Given the description of an element on the screen output the (x, y) to click on. 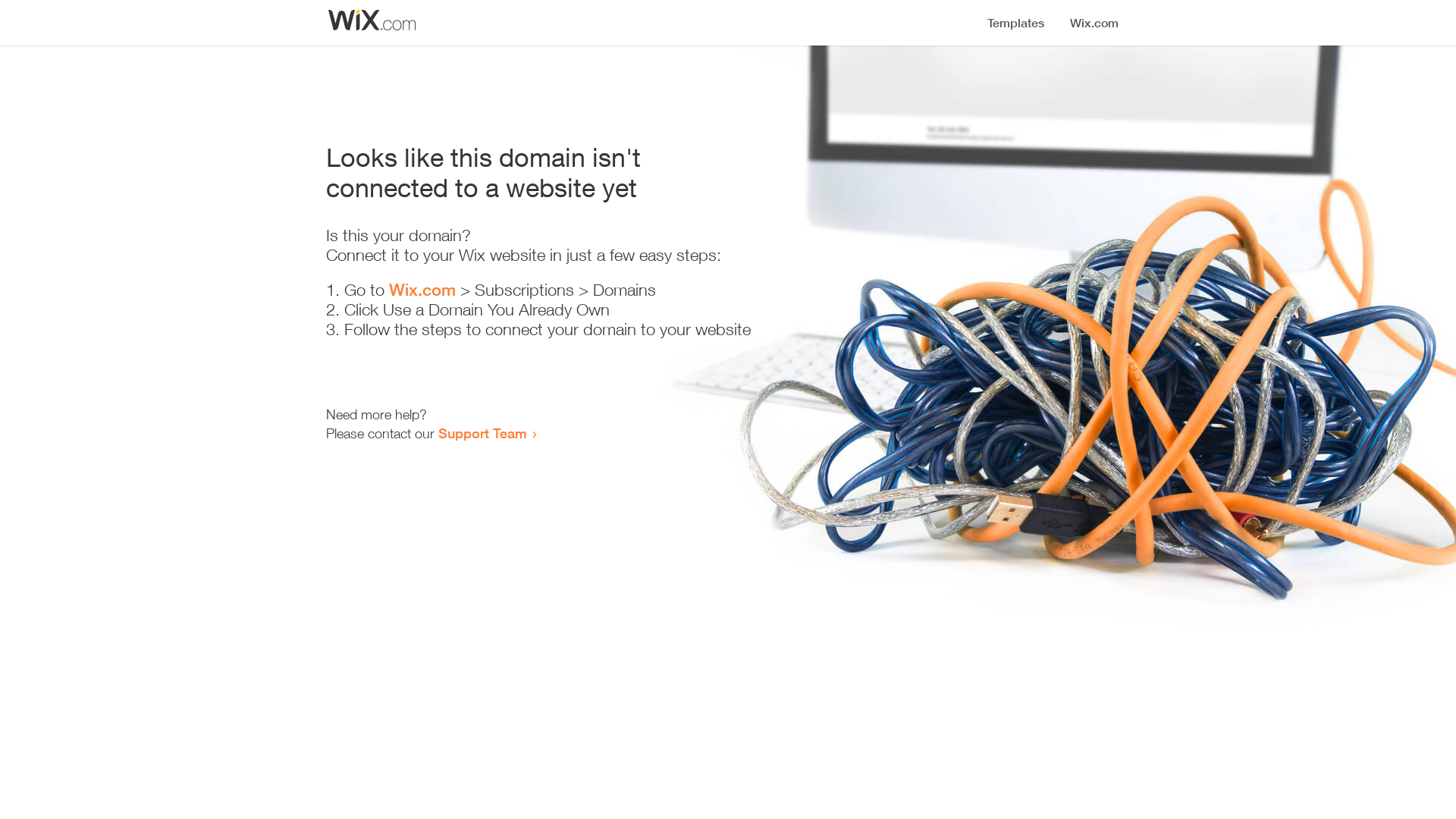
Wix.com Element type: text (422, 289)
Support Team Element type: text (482, 432)
